Given the description of an element on the screen output the (x, y) to click on. 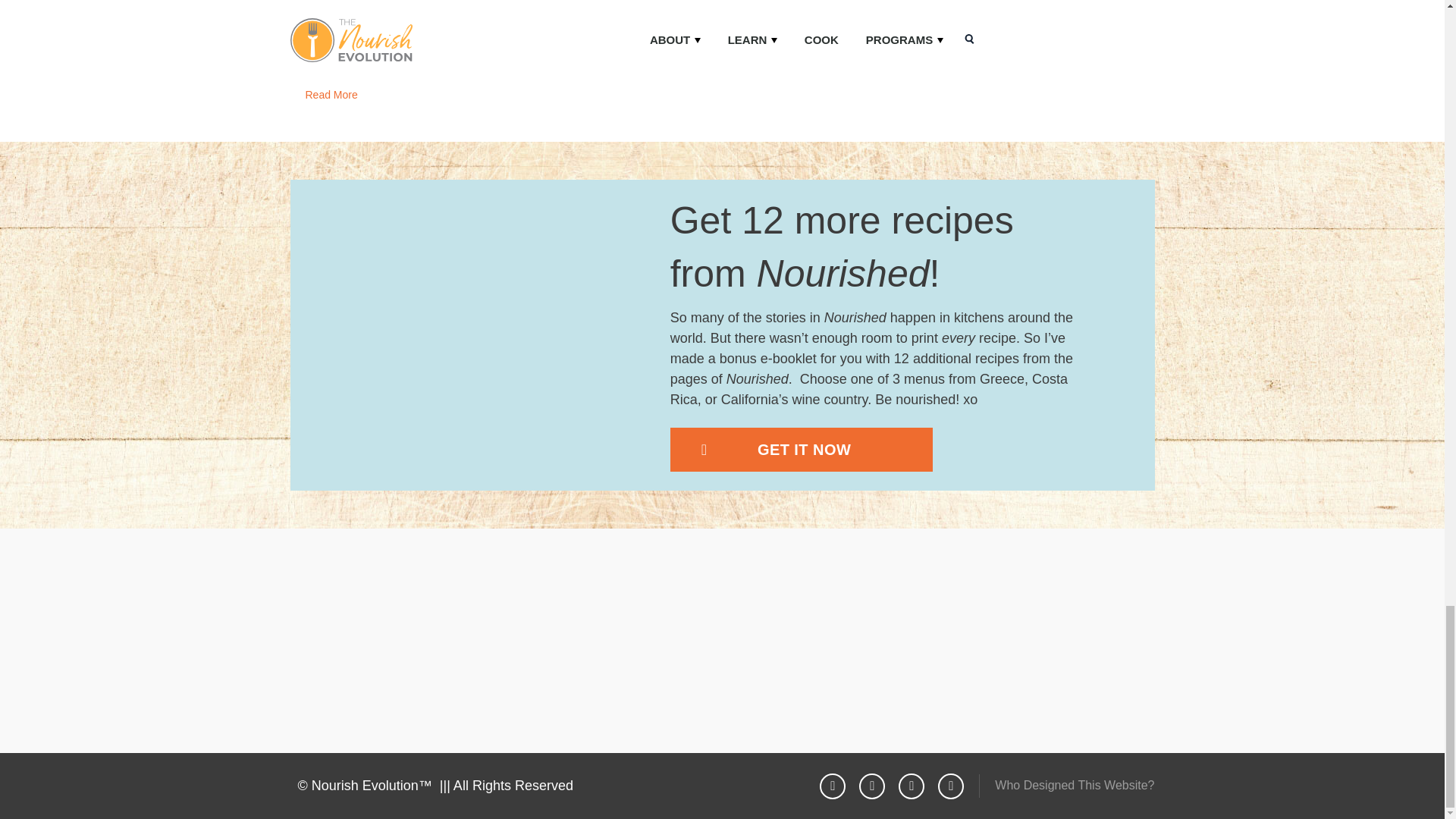
NOURISH-EVOLUTION-logo (721, 652)
